Given the description of an element on the screen output the (x, y) to click on. 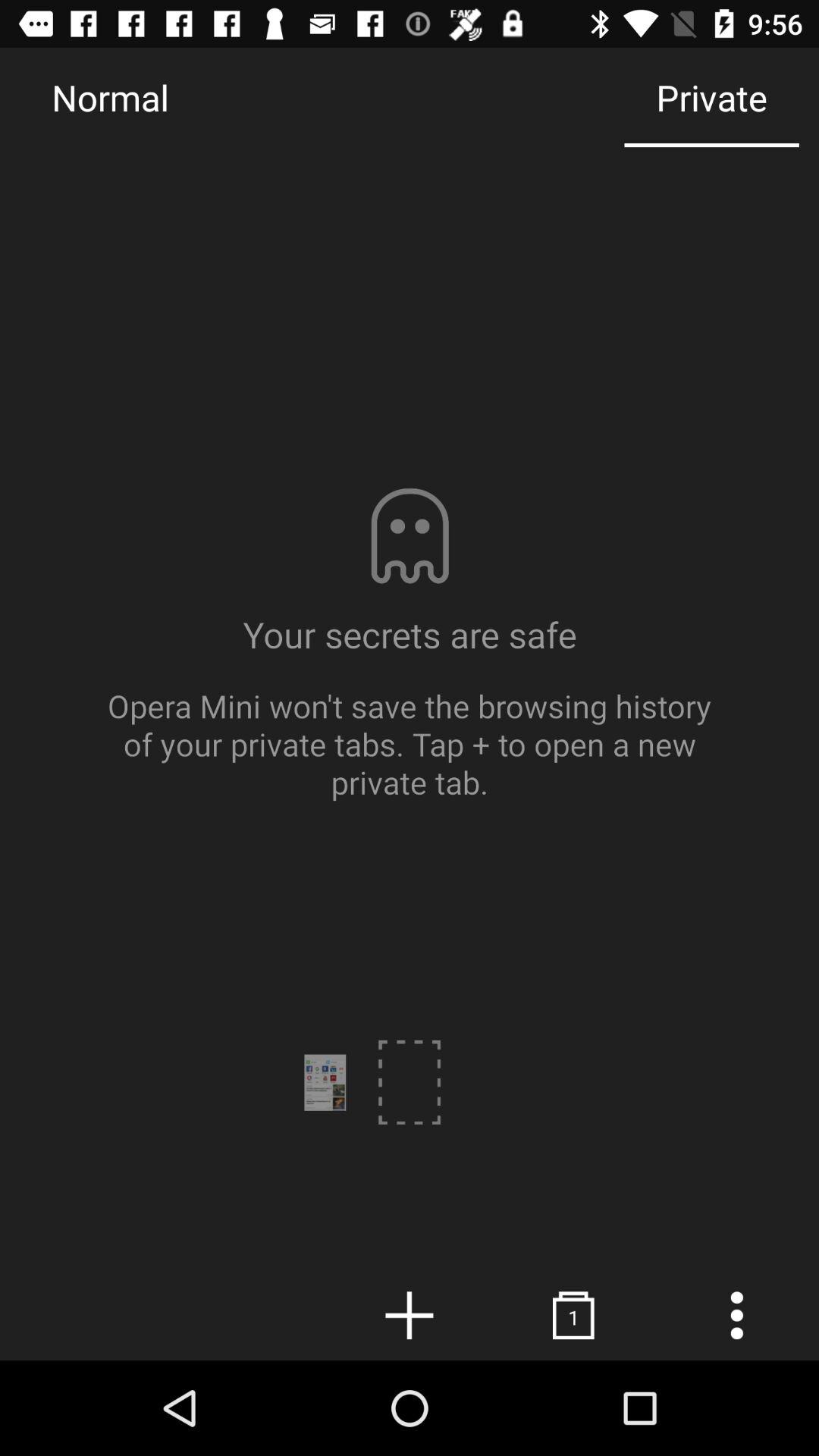
open the normal item (109, 97)
